Given the description of an element on the screen output the (x, y) to click on. 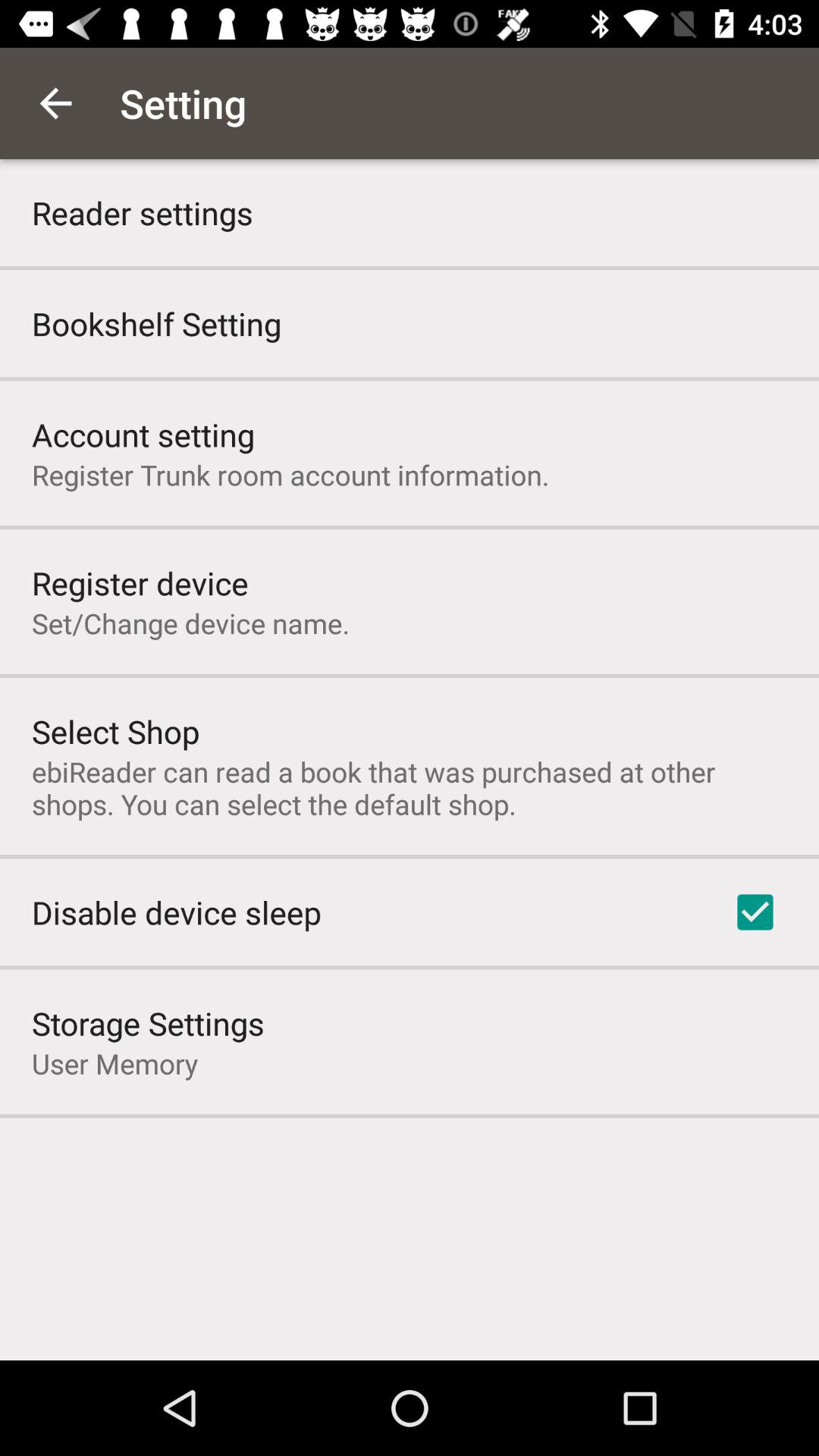
tap item above the register trunk room icon (142, 434)
